Given the description of an element on the screen output the (x, y) to click on. 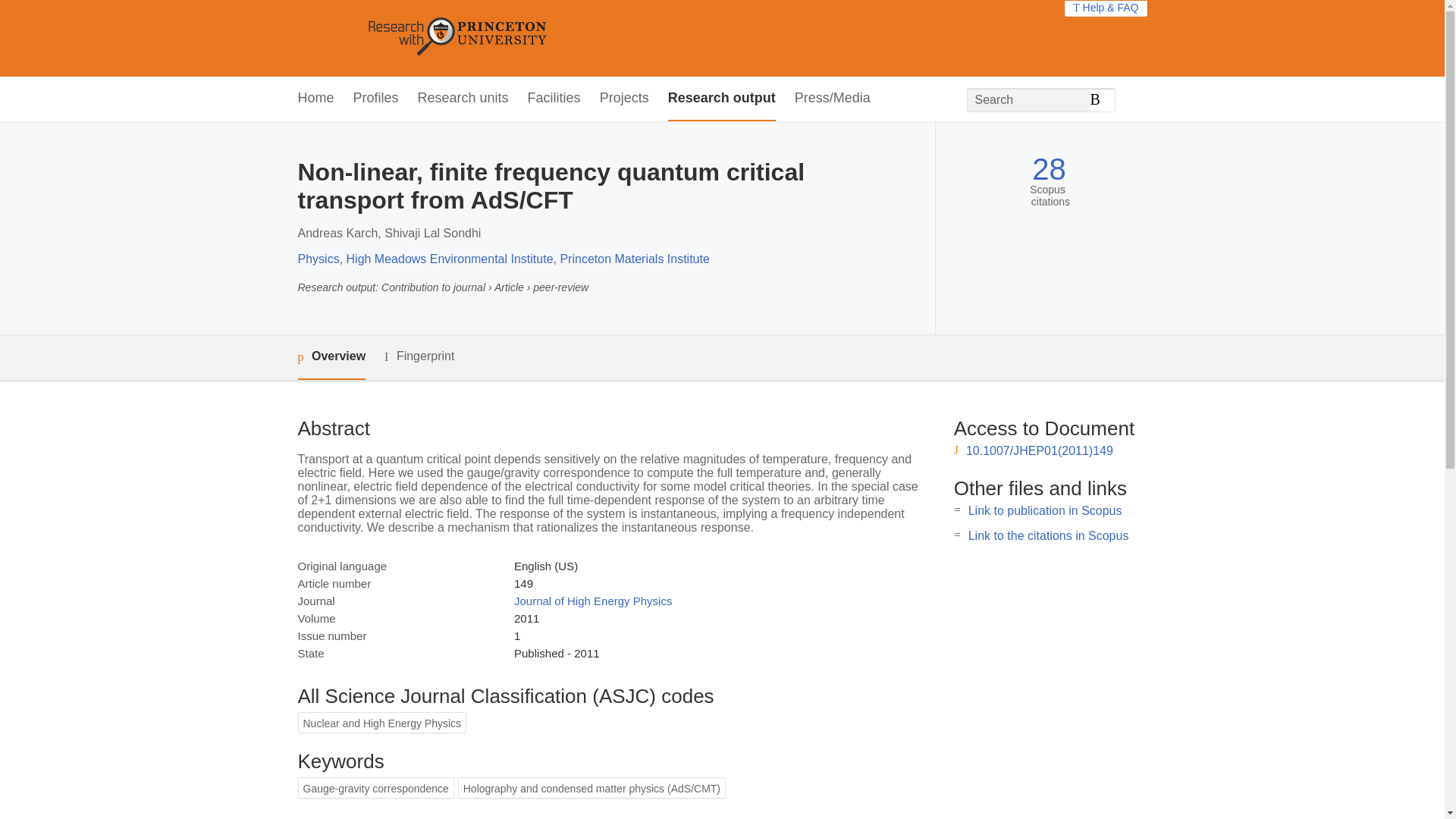
Profiles (375, 98)
Facilities (553, 98)
28 (1048, 169)
Projects (624, 98)
Physics (318, 258)
Link to the citations in Scopus (1048, 535)
Research units (462, 98)
Link to publication in Scopus (1045, 510)
Princeton University Home (567, 38)
Research output (722, 98)
